Given the description of an element on the screen output the (x, y) to click on. 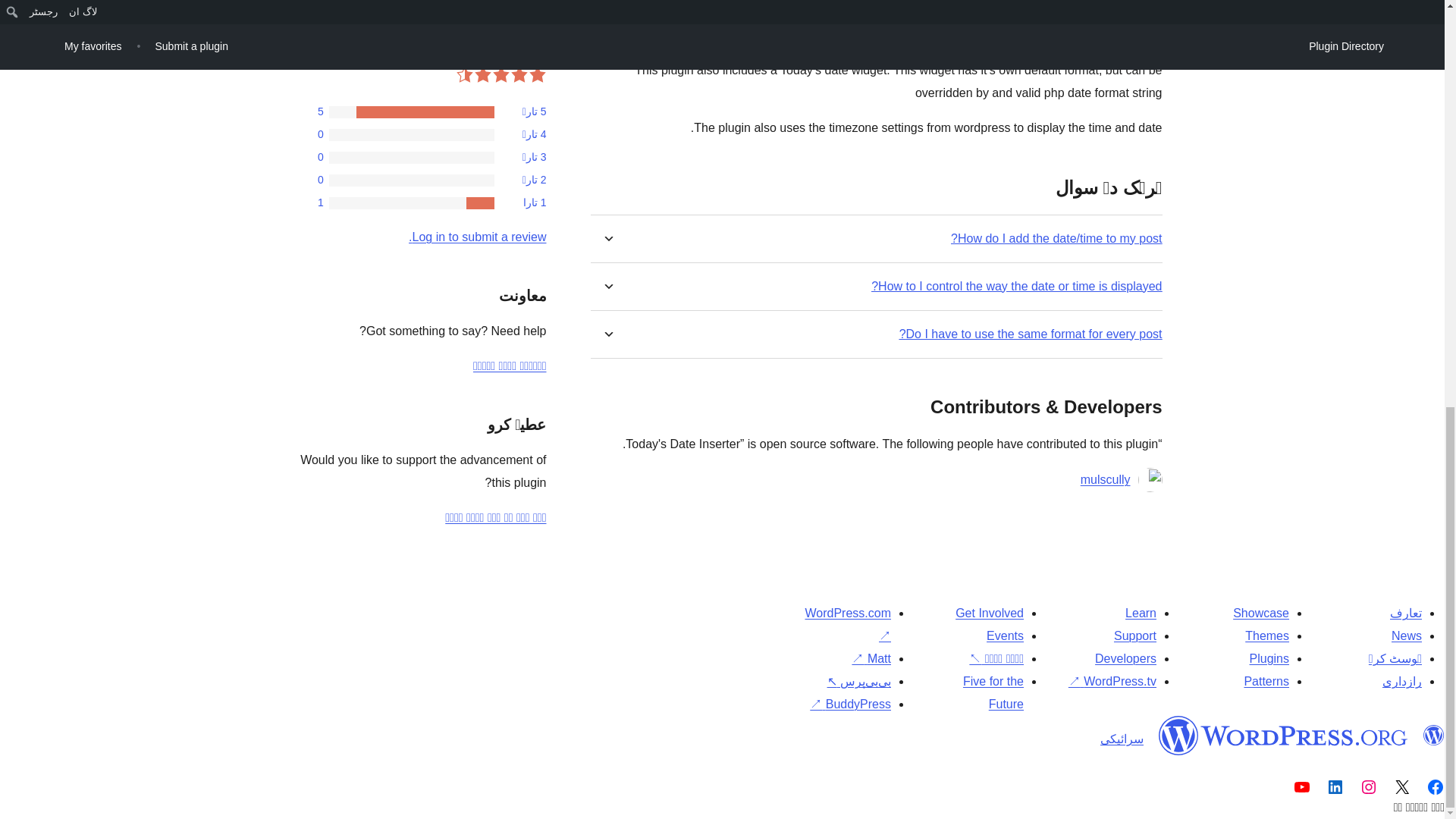
Log in to WordPress.org (477, 236)
Do I have to use the same format for every post? (1030, 333)
WordPress.org (1282, 735)
How to I control the way the date or time is displayed? (1015, 286)
